Given the description of an element on the screen output the (x, y) to click on. 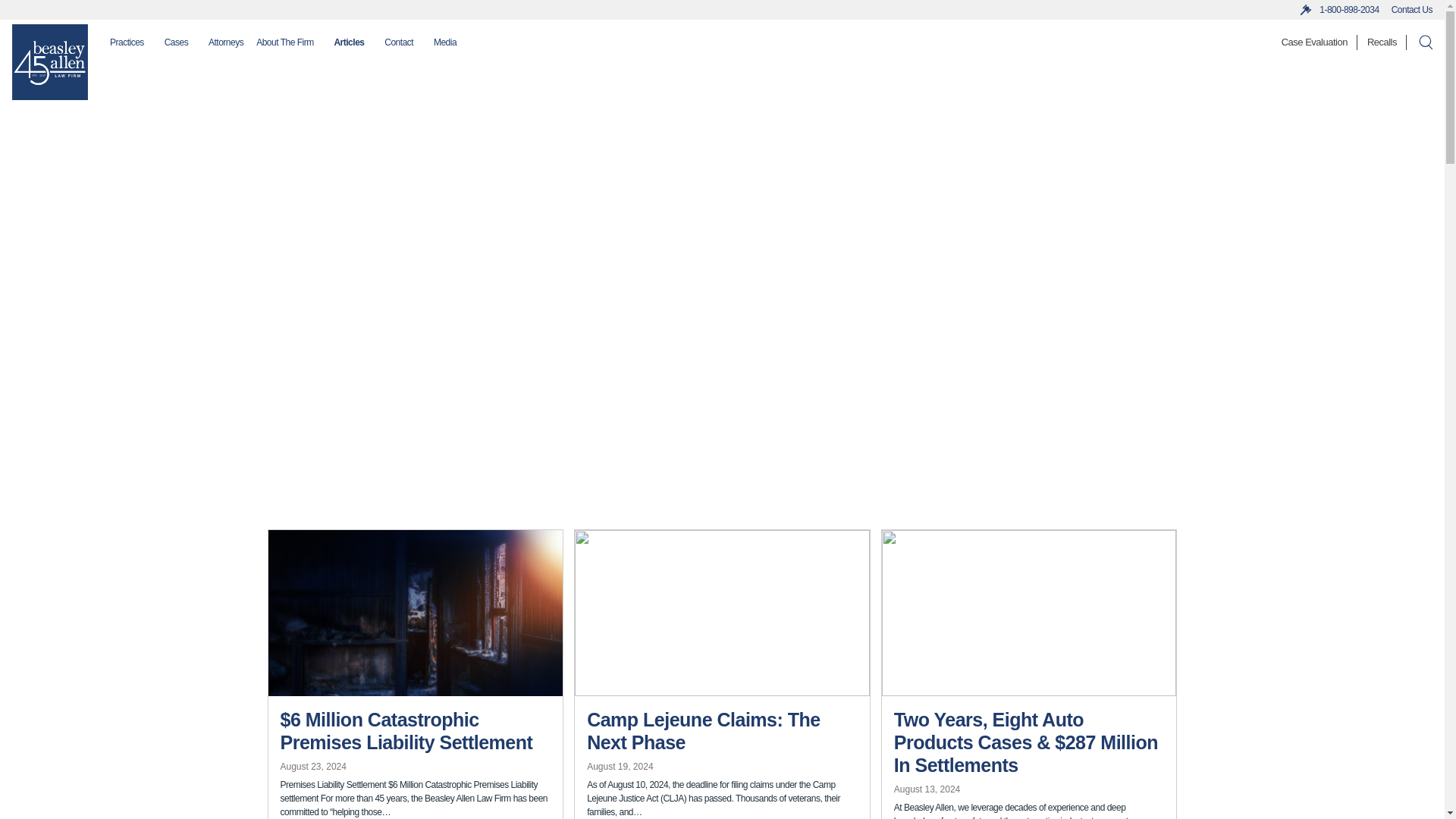
About The Firm (284, 41)
Practices (127, 41)
Cases (176, 41)
Attorneys (225, 41)
